Given the description of an element on the screen output the (x, y) to click on. 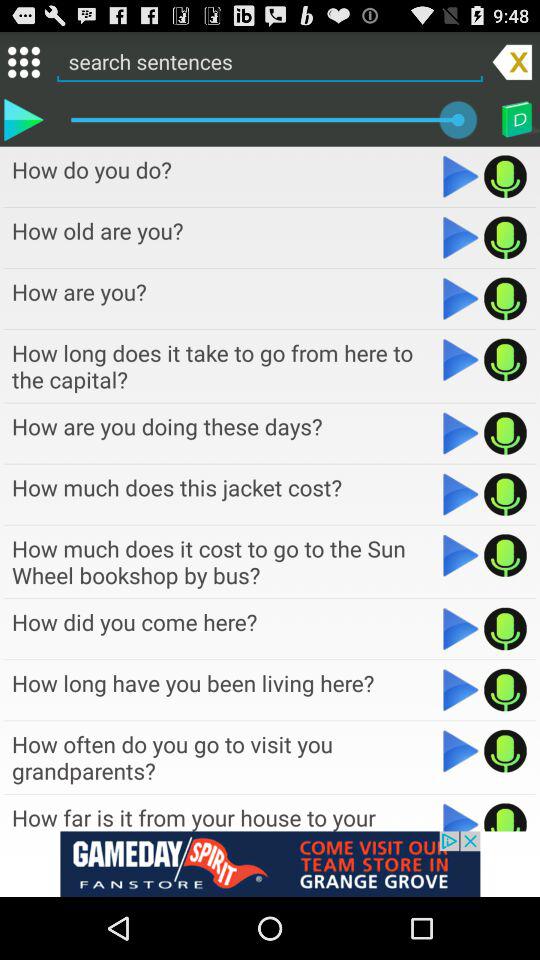
record audio (505, 237)
